Given the description of an element on the screen output the (x, y) to click on. 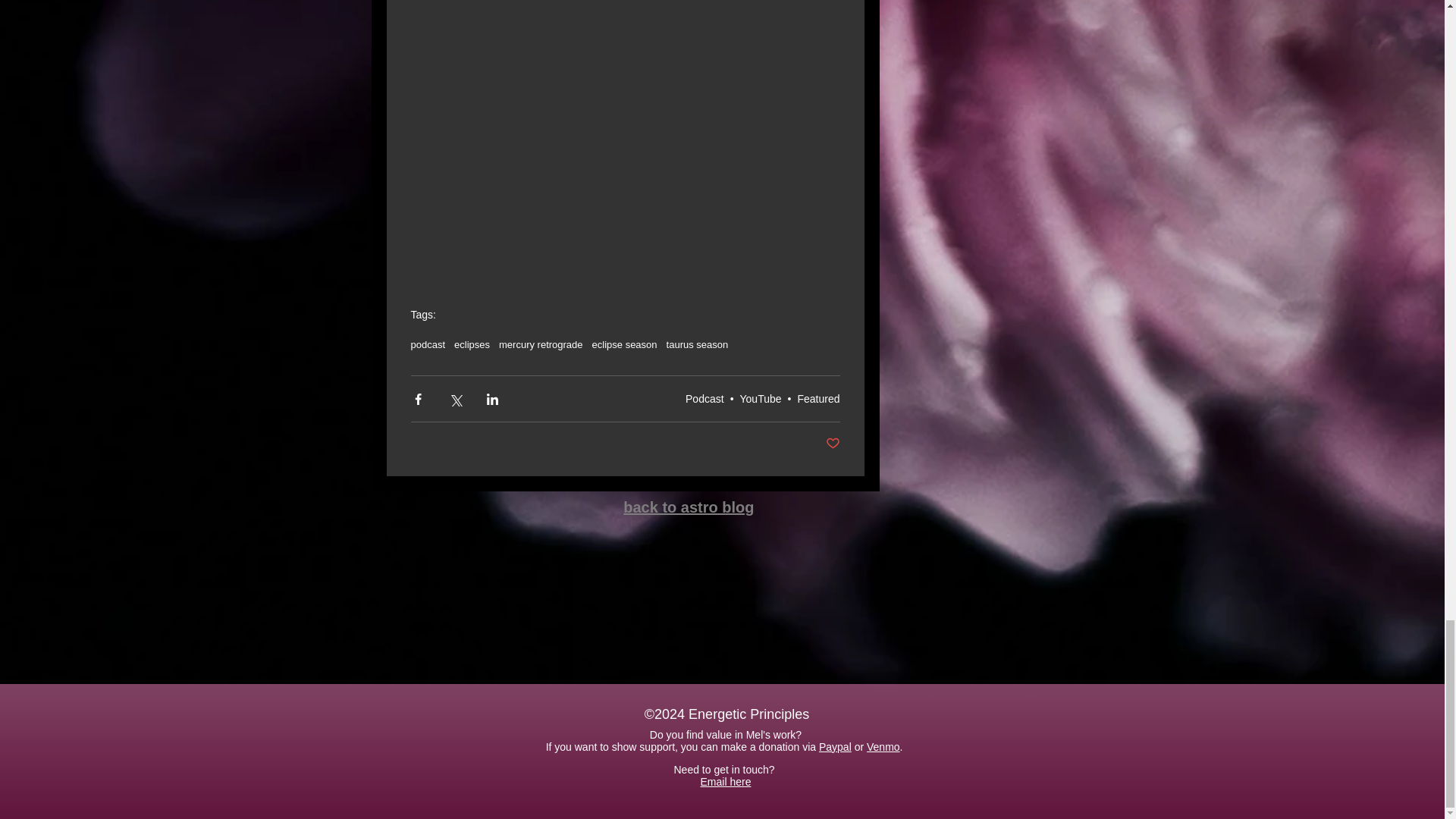
Podcast (704, 398)
taurus season (697, 344)
YouTube (760, 398)
eclipses (471, 344)
eclipse season (625, 344)
mercury retrograde (541, 344)
Featured (818, 398)
Post not marked as liked (832, 443)
podcast (427, 344)
